Given the description of an element on the screen output the (x, y) to click on. 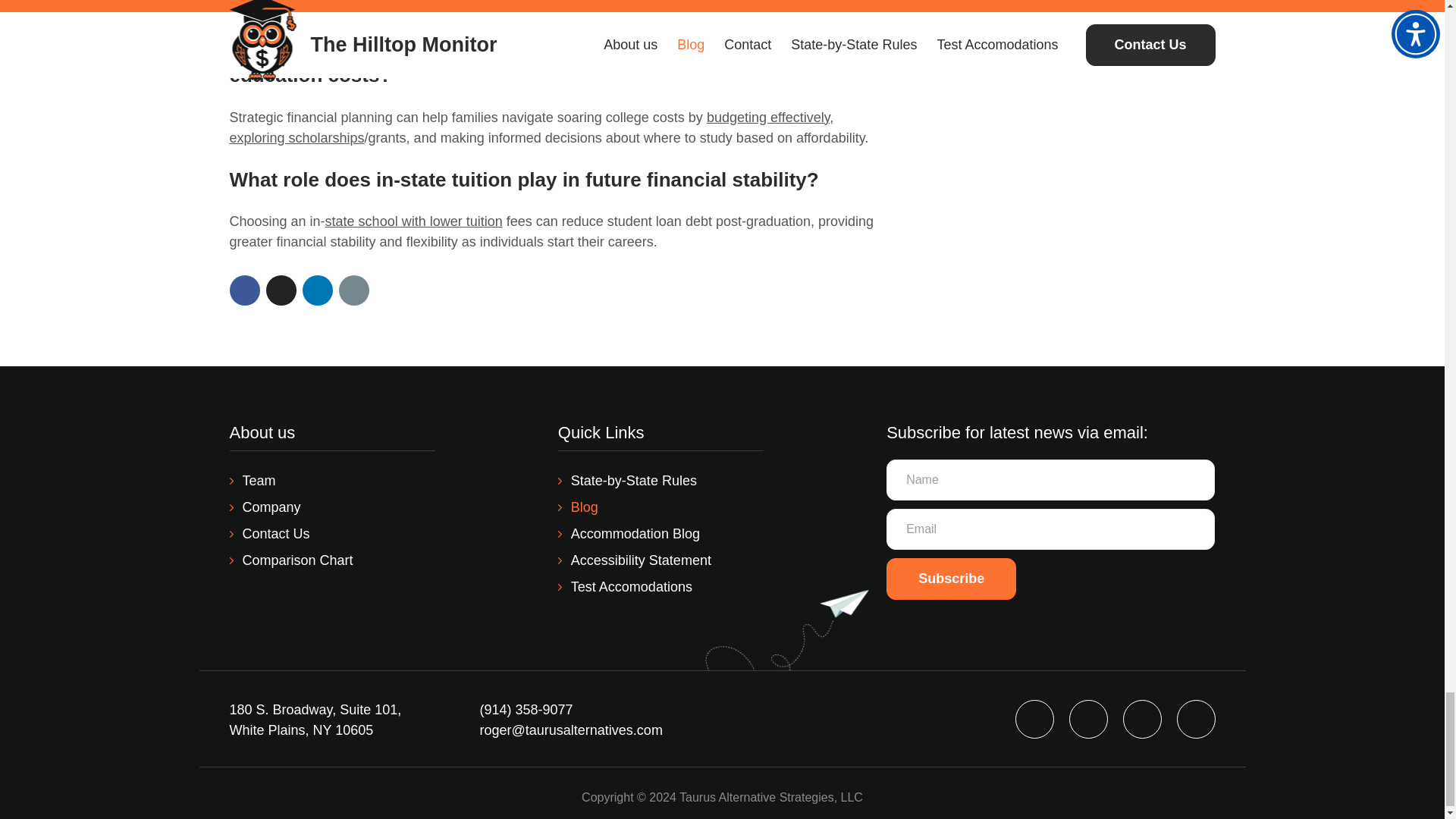
state school with lower tuition (413, 221)
Test Accomodations (625, 586)
Company (263, 507)
Blog (577, 507)
Accommodation Blog (628, 533)
Team (251, 480)
Accessibility Statement (634, 560)
budgeting effectively, exploring scholarships (530, 126)
State-by-State Rules (627, 480)
Contact Us (268, 533)
Comparison Chart (290, 560)
Subscribe (951, 578)
